Given the description of an element on the screen output the (x, y) to click on. 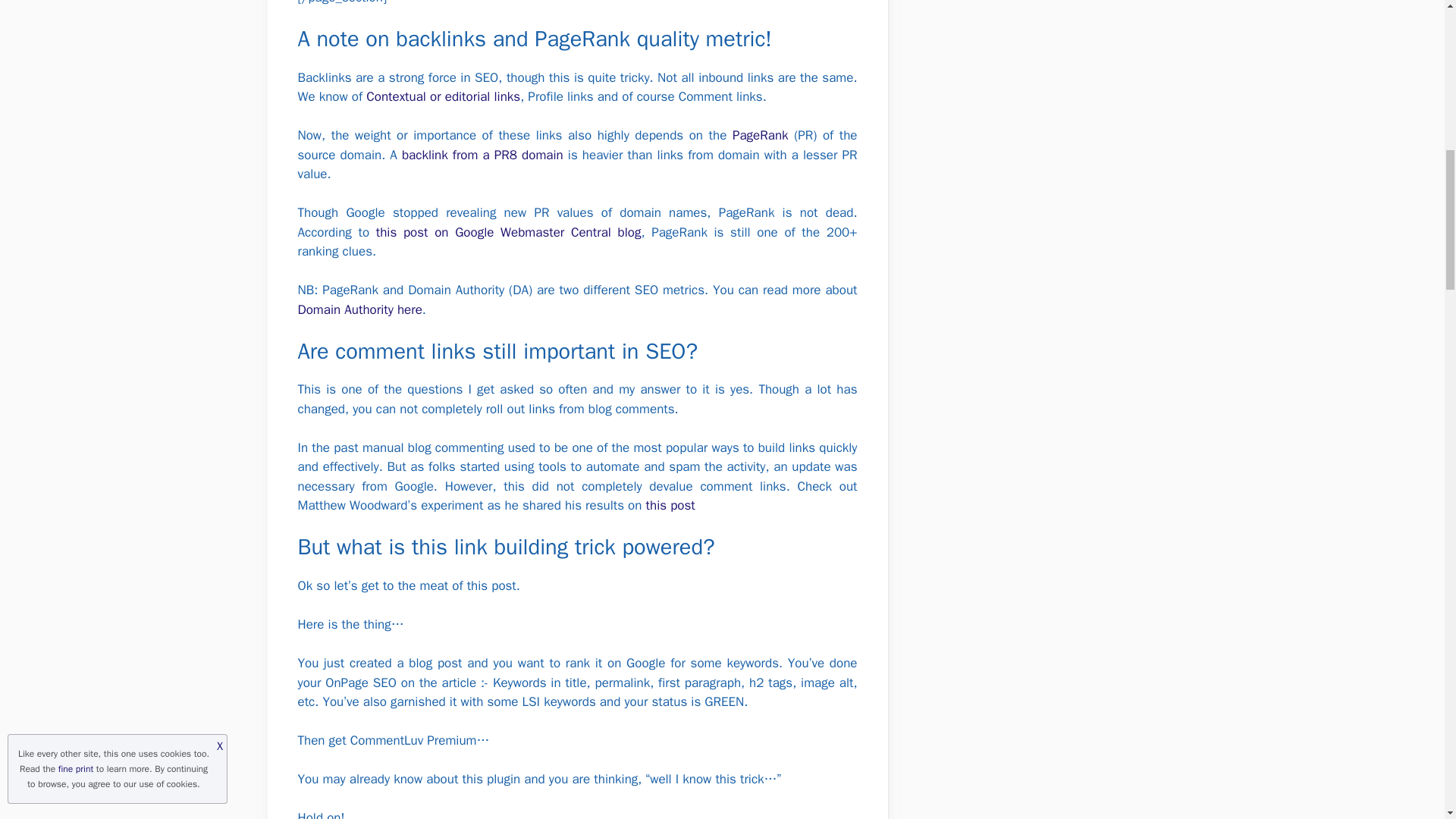
Contextual or editorial links (442, 96)
Domain Authority here (359, 309)
backlink from a PR8 domain (482, 154)
this post on Google Webmaster Central blog (508, 232)
this post (670, 505)
PageRank (760, 135)
